Given the description of an element on the screen output the (x, y) to click on. 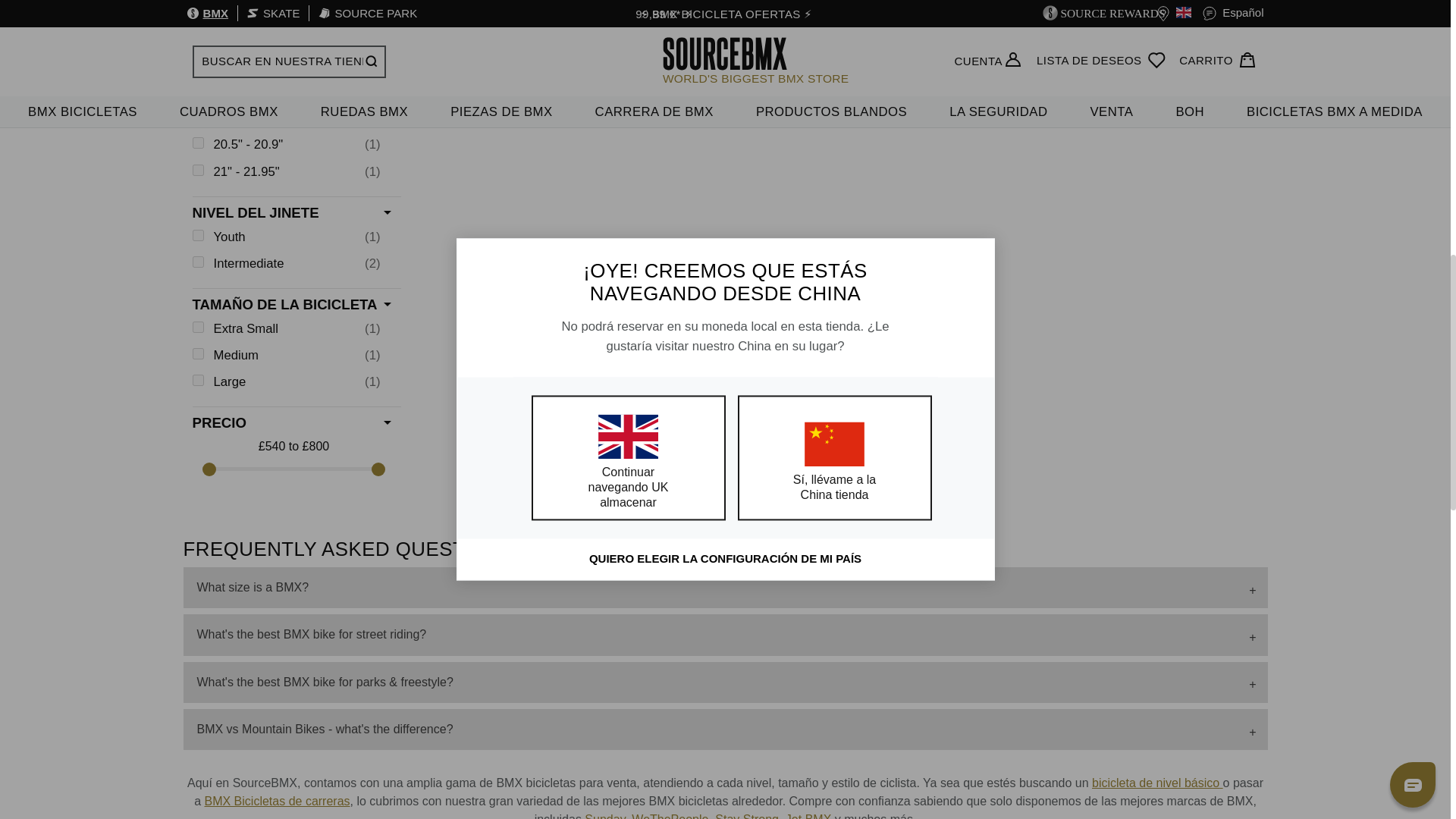
on (197, 326)
on (197, 24)
on (197, 235)
800 (293, 468)
540 (293, 468)
on (197, 261)
on (197, 379)
on (197, 50)
on (197, 142)
on (197, 116)
on (197, 170)
on (197, 353)
